Given the description of an element on the screen output the (x, y) to click on. 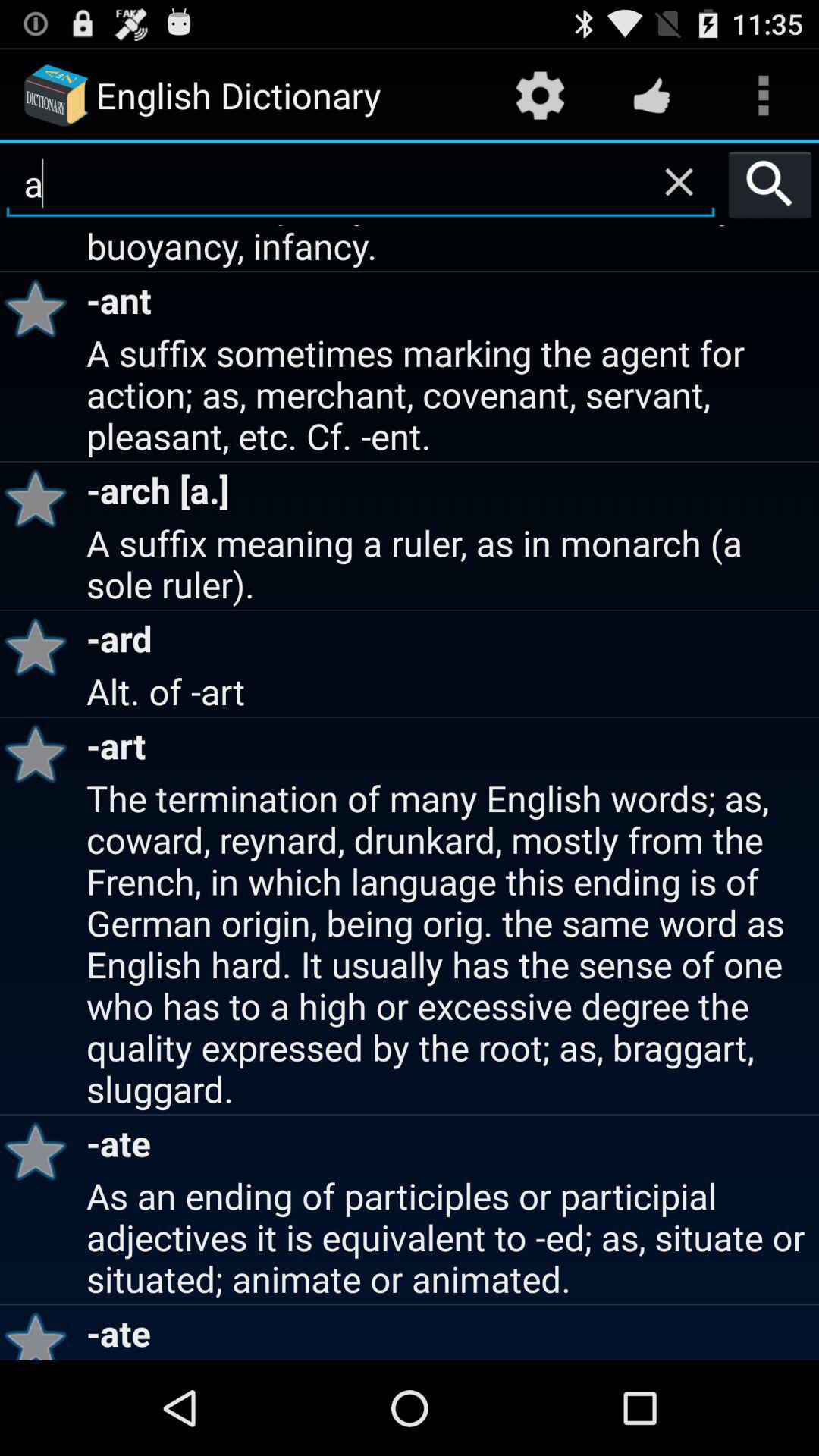
choose item to the left of as an ending item (41, 1332)
